Given the description of an element on the screen output the (x, y) to click on. 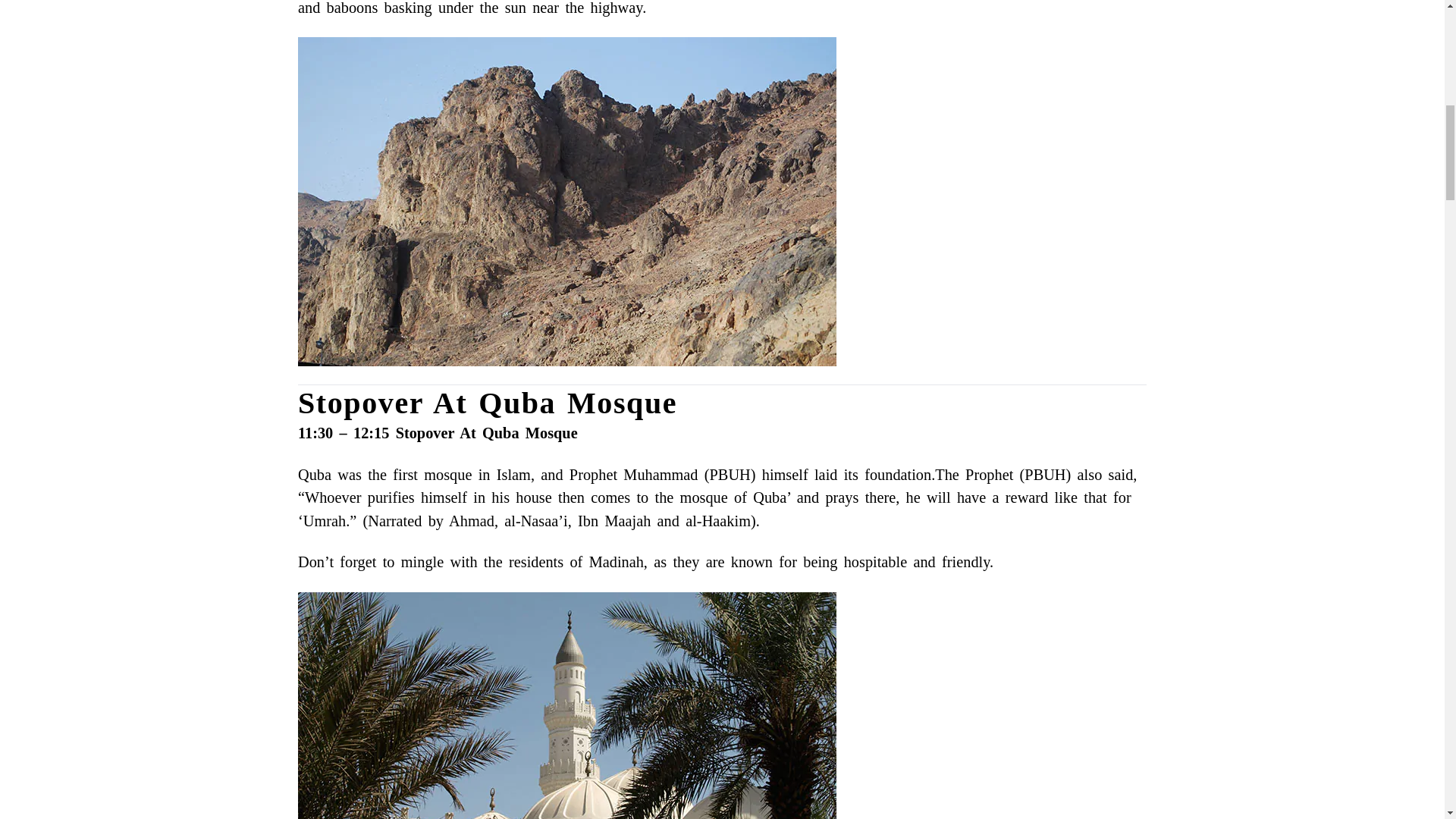
A First-Timers Guide To Madinah 14 (566, 705)
